Given the description of an element on the screen output the (x, y) to click on. 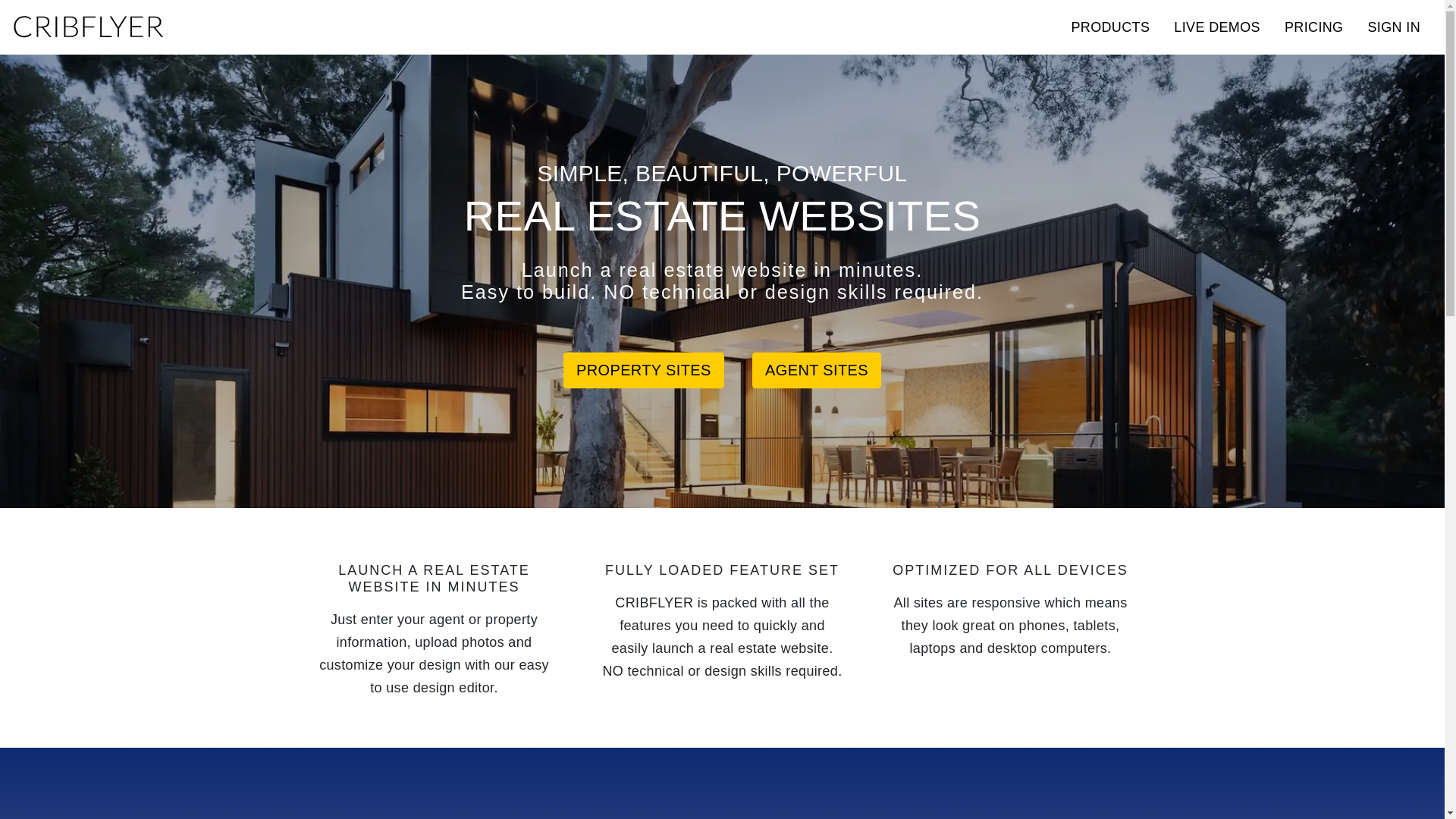
PRICING Element type: text (1313, 27)
AGENT SITES Element type: text (816, 370)
PROPERTY SITES Element type: text (643, 370)
LIVE DEMOS Element type: text (1216, 27)
PRODUCTS Element type: text (1109, 27)
SIGN IN Element type: text (1393, 27)
